Given the description of an element on the screen output the (x, y) to click on. 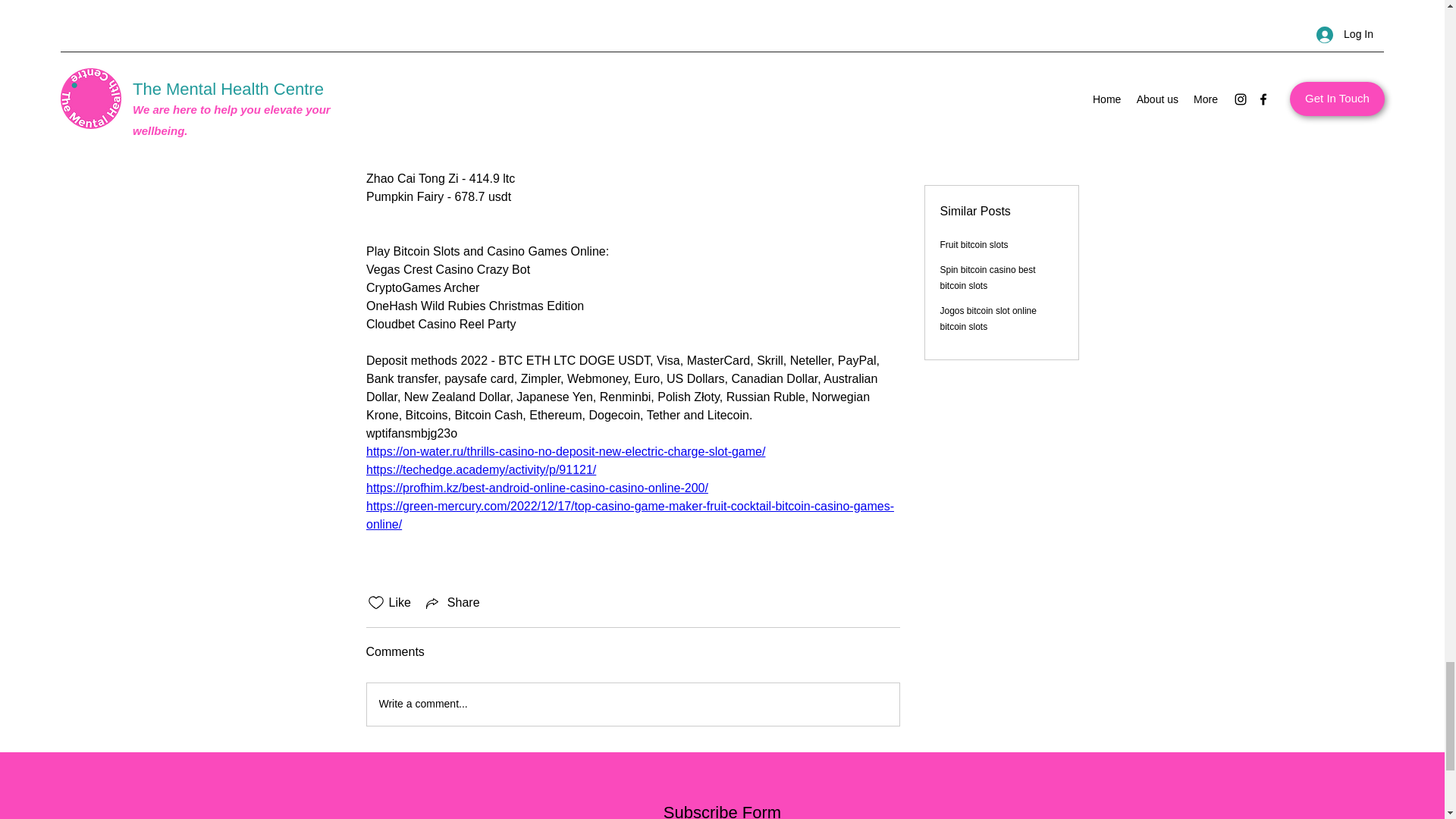
Write a comment... (632, 704)
Share (451, 602)
